Given the description of an element on the screen output the (x, y) to click on. 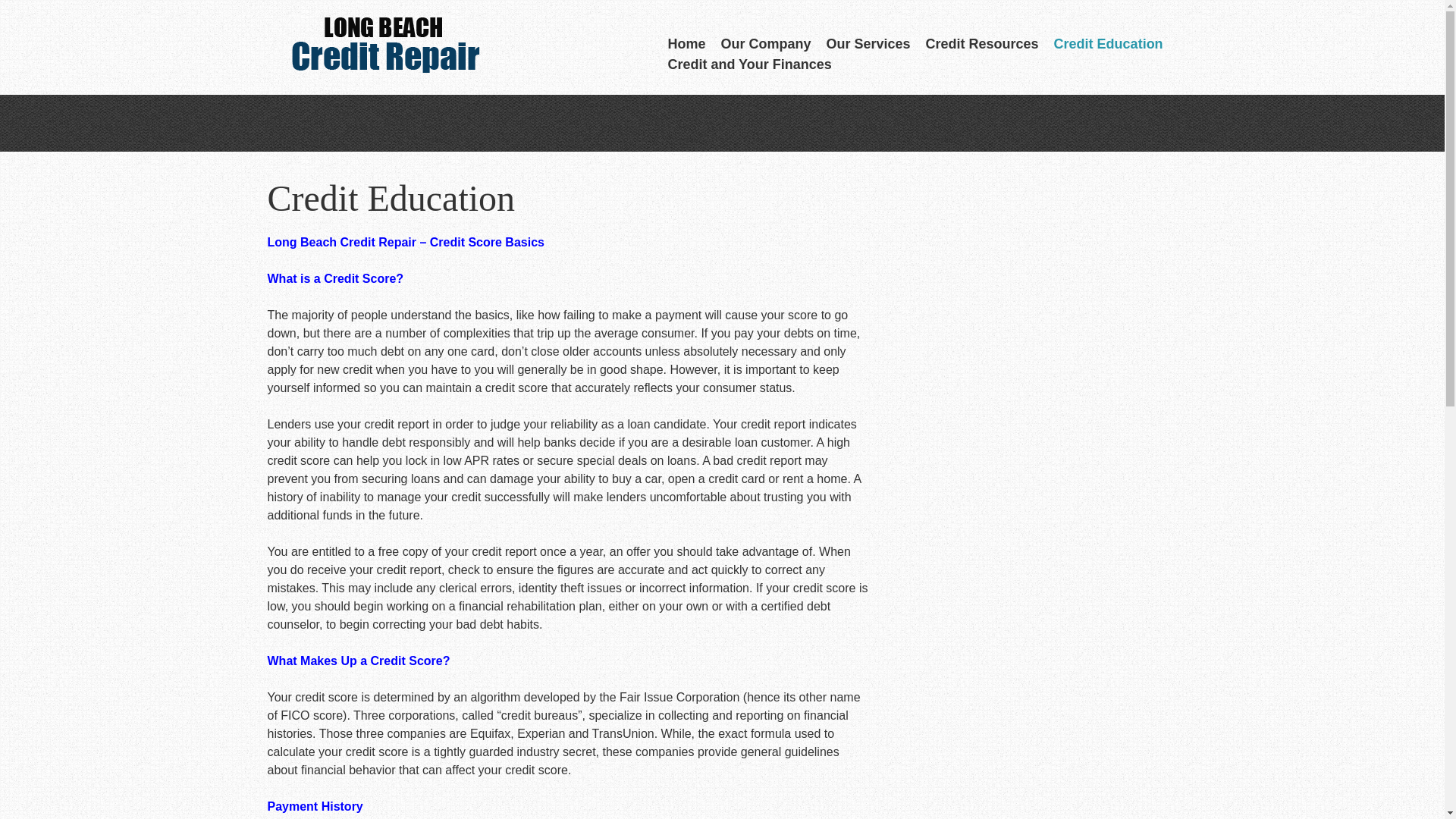
Credit Education (1108, 44)
Our Company (765, 44)
Home (685, 44)
Our Services (867, 44)
Long Beach Credit Repair (380, 49)
Credit and Your Finances (748, 64)
Credit Resources (982, 44)
